Given the description of an element on the screen output the (x, y) to click on. 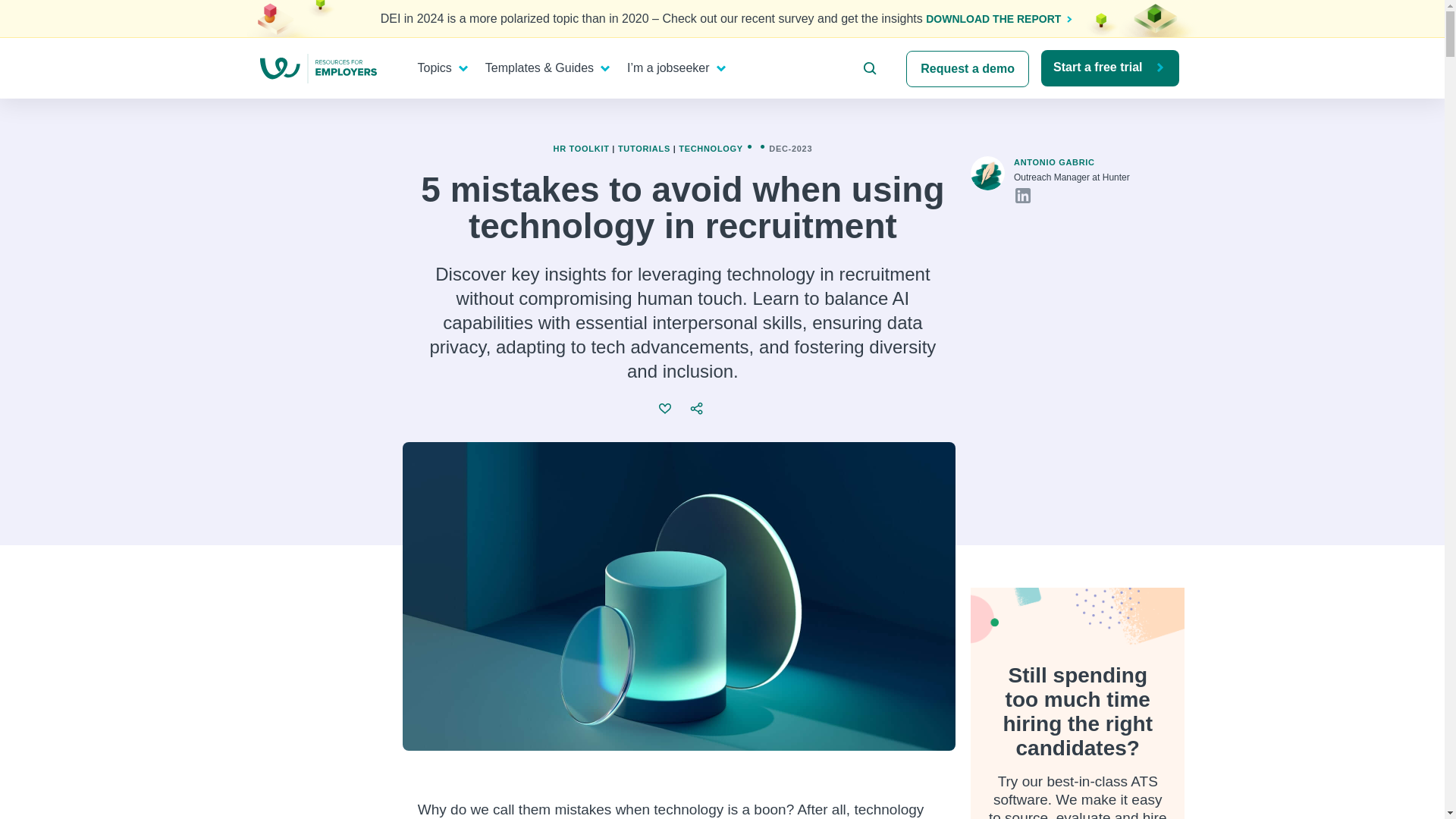
Like (666, 408)
Linkedin (1022, 195)
Website (1043, 195)
DOWNLOAD THE REPORT (995, 19)
Topics (437, 68)
